Given the description of an element on the screen output the (x, y) to click on. 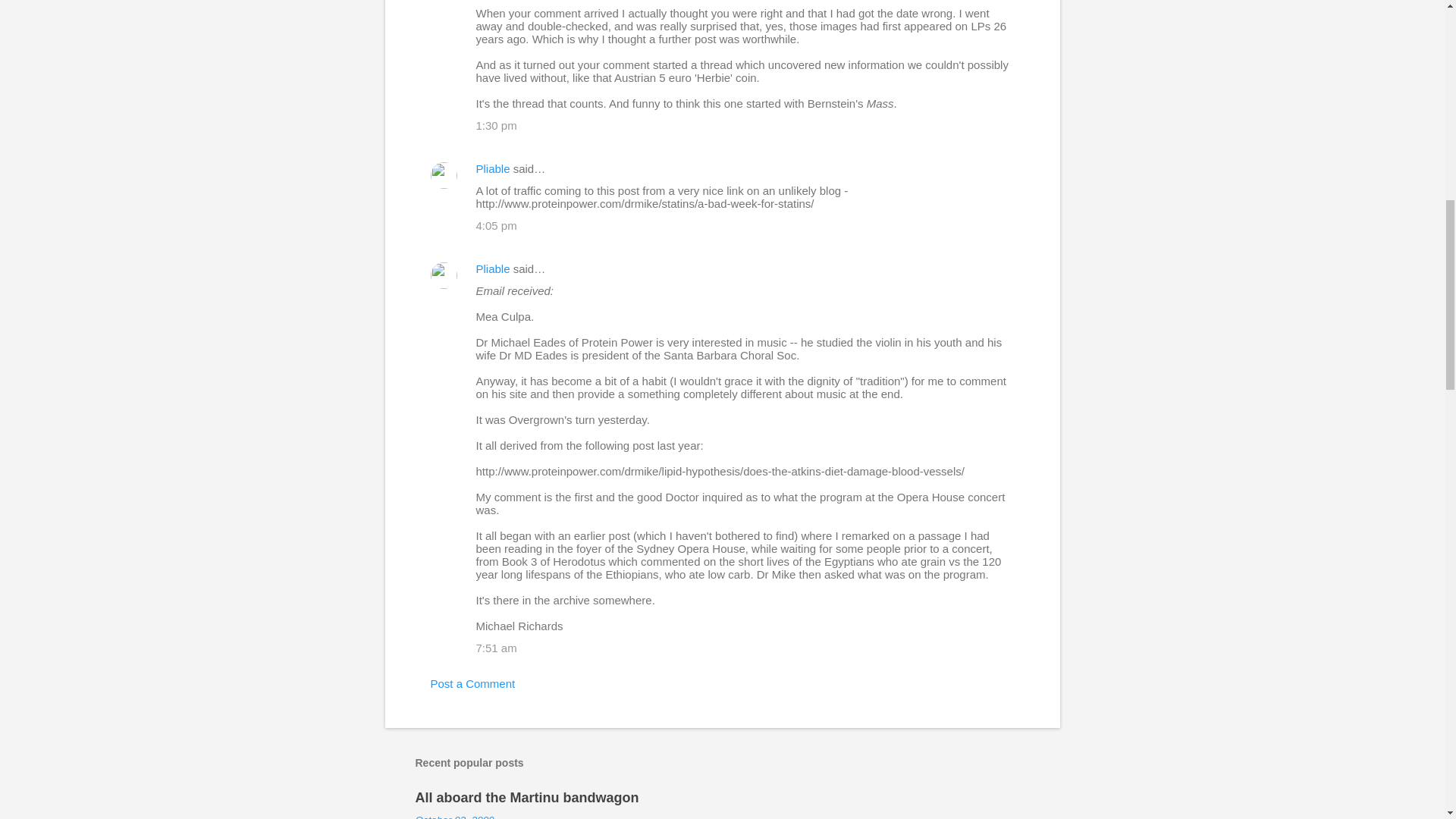
Pliable (493, 168)
Pliable (493, 268)
1:30 pm (496, 124)
7:51 am (496, 647)
4:05 pm (496, 225)
